Given the description of an element on the screen output the (x, y) to click on. 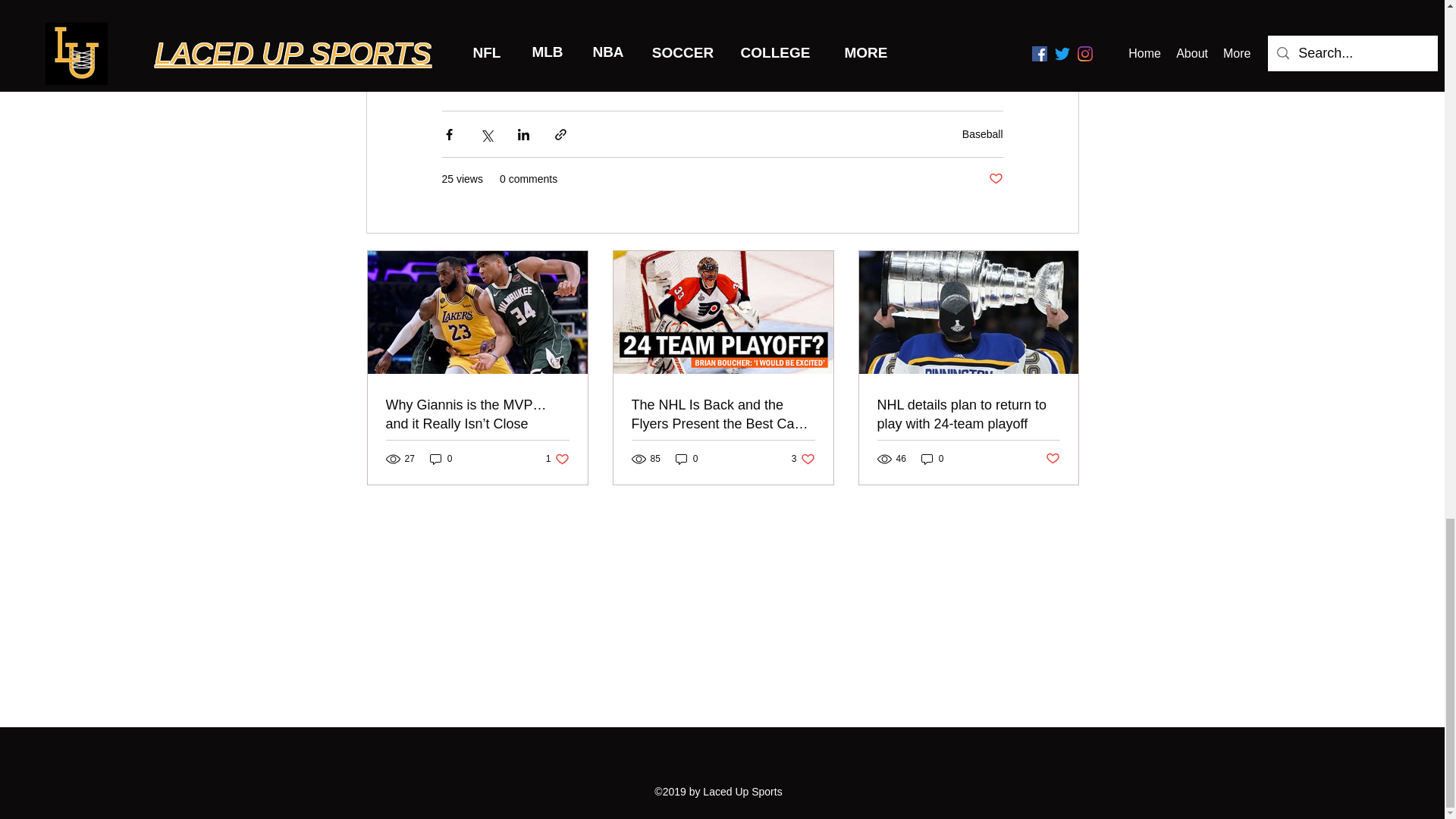
Post not marked as liked (995, 179)
0 (557, 459)
0 (687, 459)
Baseball (441, 459)
